Given the description of an element on the screen output the (x, y) to click on. 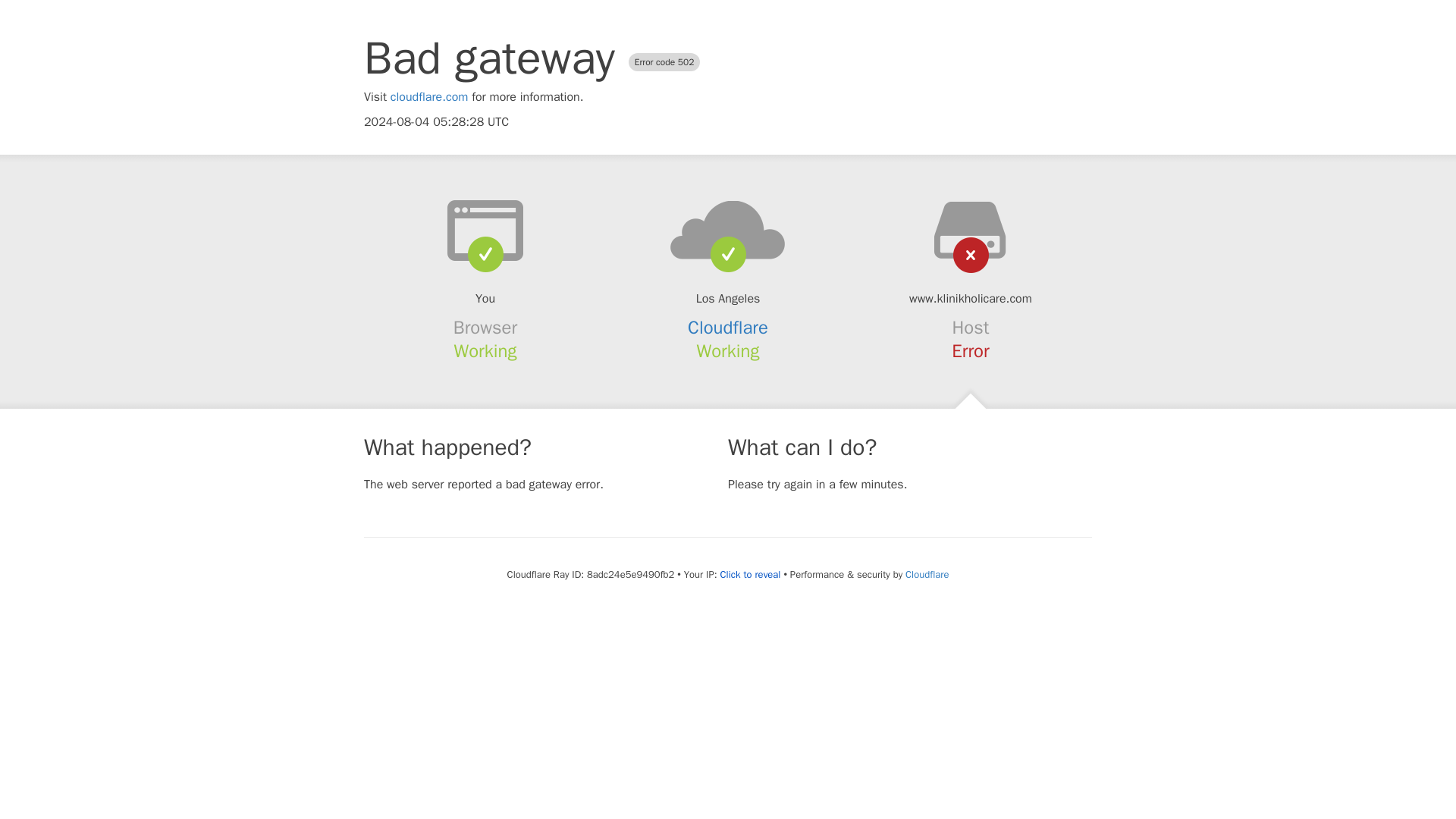
cloudflare.com (429, 96)
Cloudflare (727, 327)
Click to reveal (750, 574)
Cloudflare (927, 574)
